Given the description of an element on the screen output the (x, y) to click on. 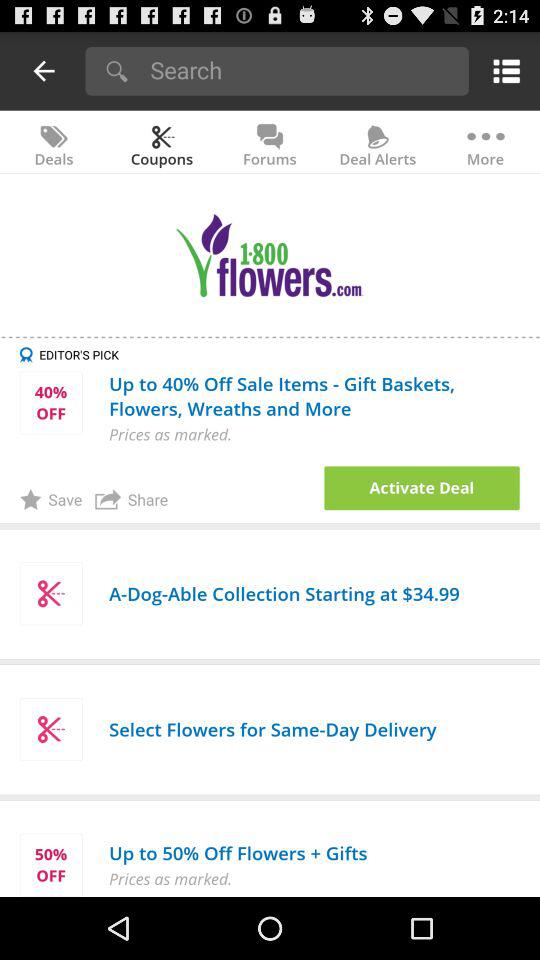
open app above more app (502, 70)
